Given the description of an element on the screen output the (x, y) to click on. 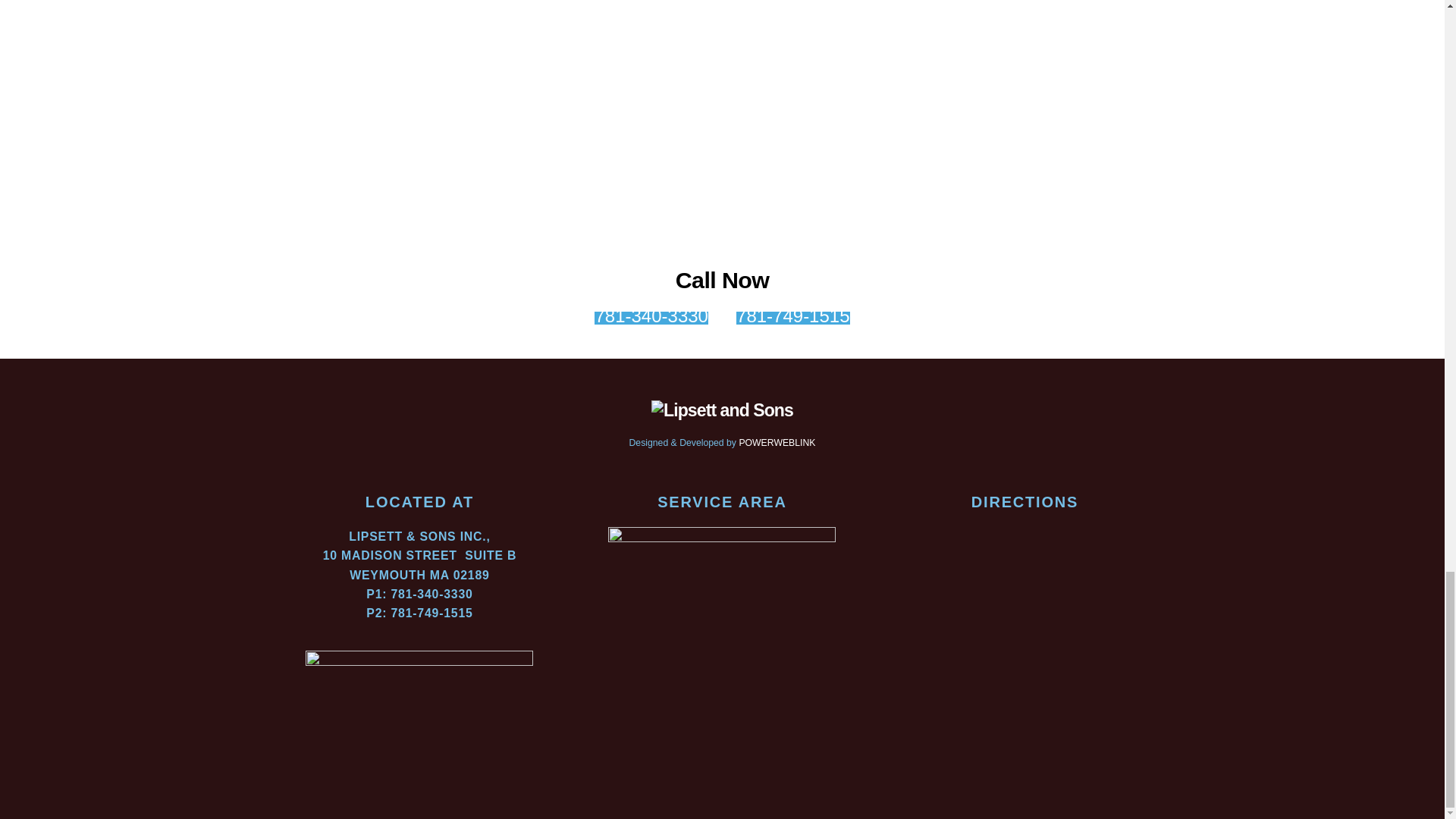
Lipsett and Sons (721, 410)
POWERWEBLINK (776, 442)
781-340-3330 (650, 318)
781-749-1515 (792, 318)
